Given the description of an element on the screen output the (x, y) to click on. 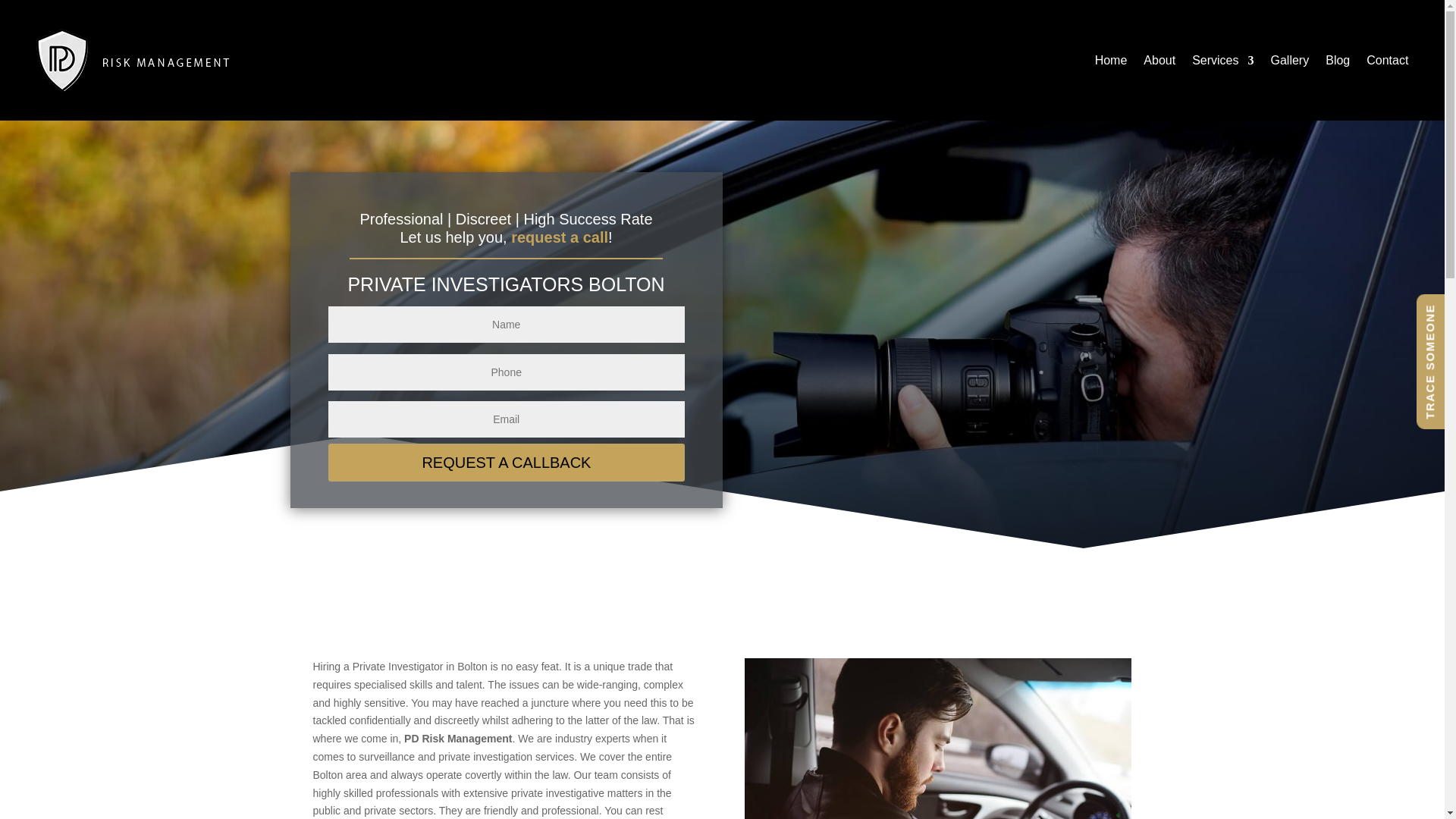
REQUEST A CALLBACK (506, 462)
Private Detective Pre Matrimonial Investigation (937, 738)
Services (1222, 59)
